Given the description of an element on the screen output the (x, y) to click on. 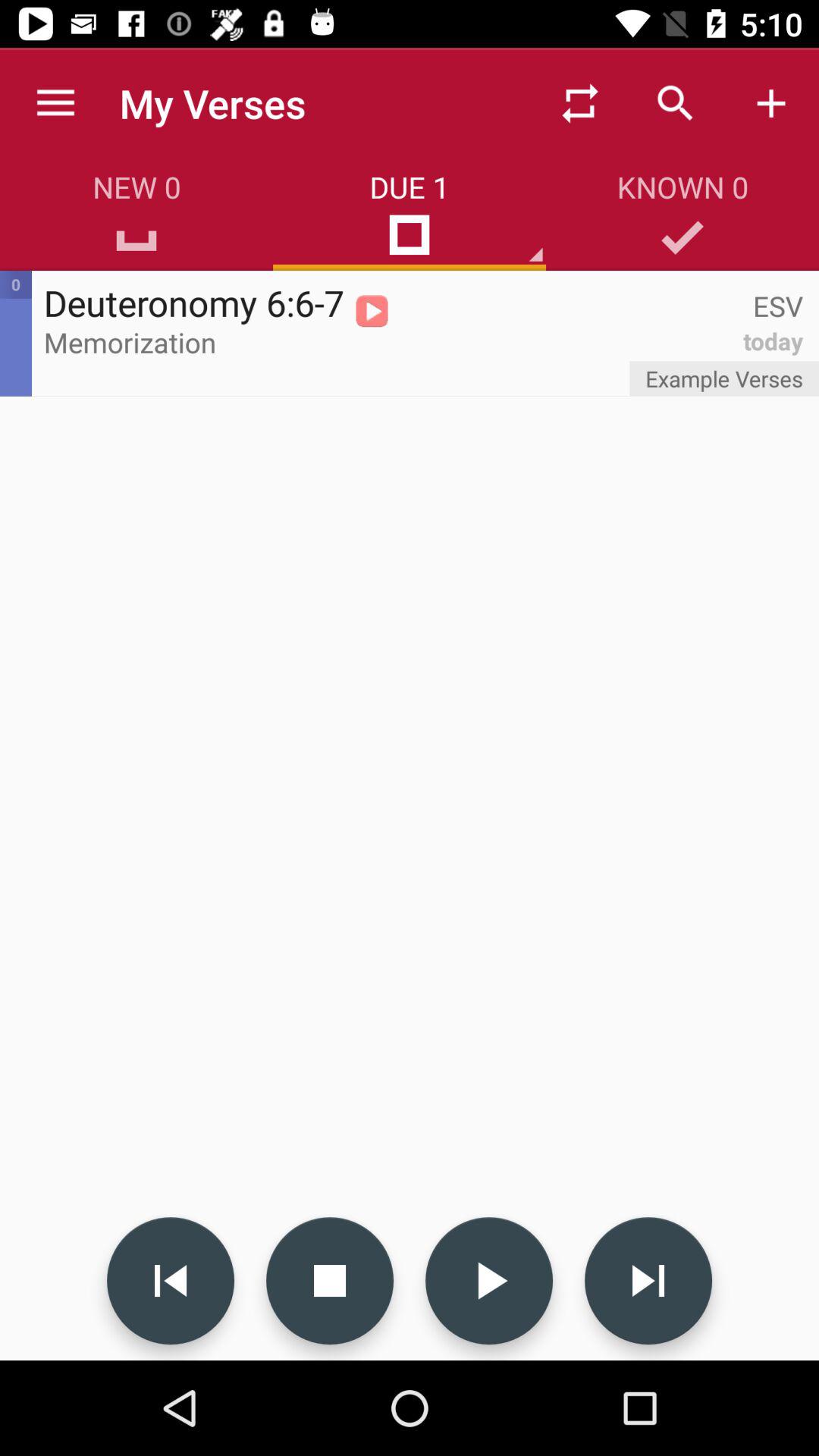
stop autoplay (329, 1280)
